Given the description of an element on the screen output the (x, y) to click on. 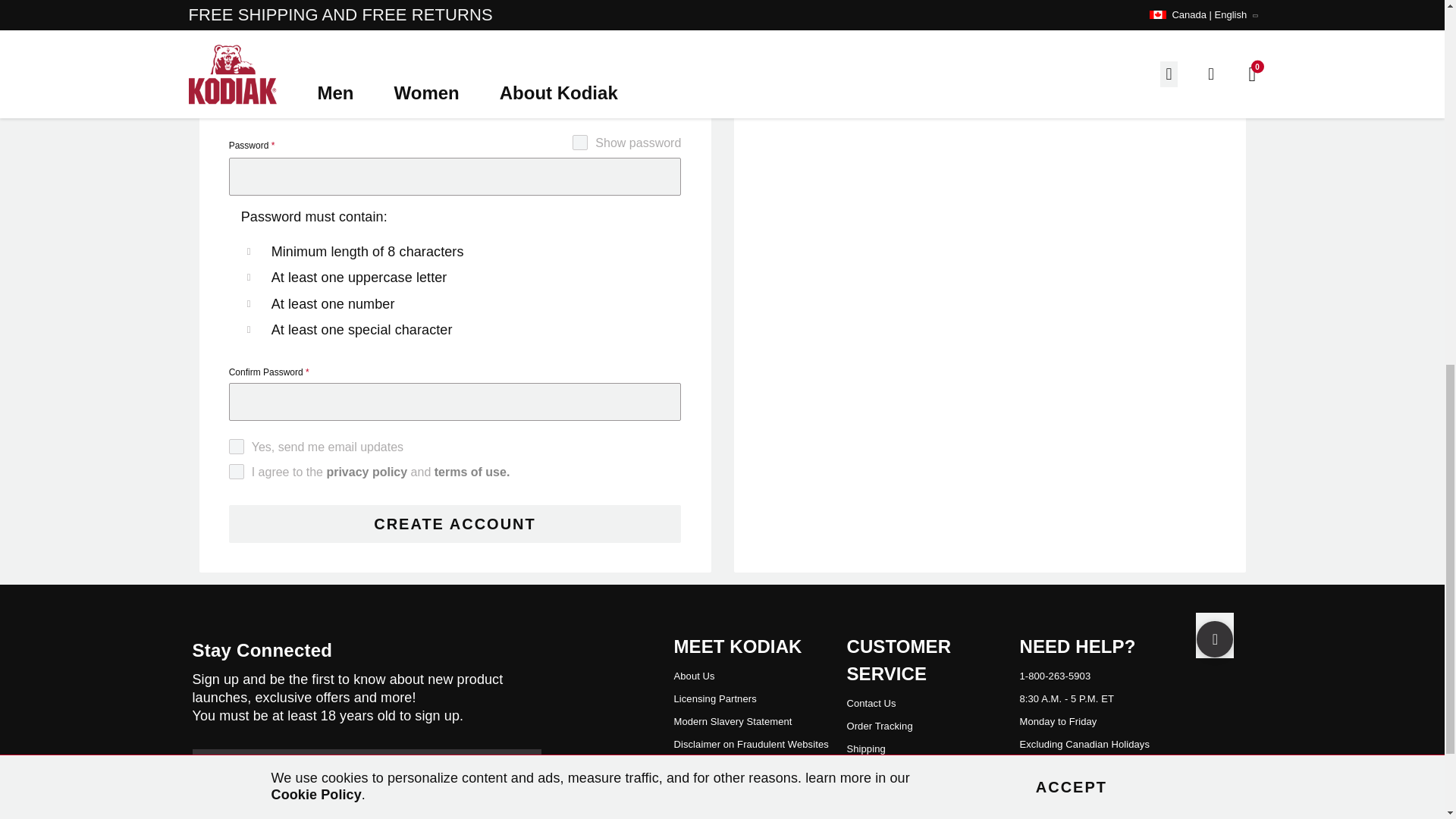
Call for assistance (1054, 675)
true (256, 469)
Go to Warranty (865, 794)
on (600, 139)
Go to Shipping (865, 748)
Go to Disclaimer on Fraudulent Websites (750, 744)
Go to Returns (862, 771)
Go to About Us (693, 675)
Go to Contact Us (870, 703)
Go to Track Your Order (878, 726)
